Given the description of an element on the screen output the (x, y) to click on. 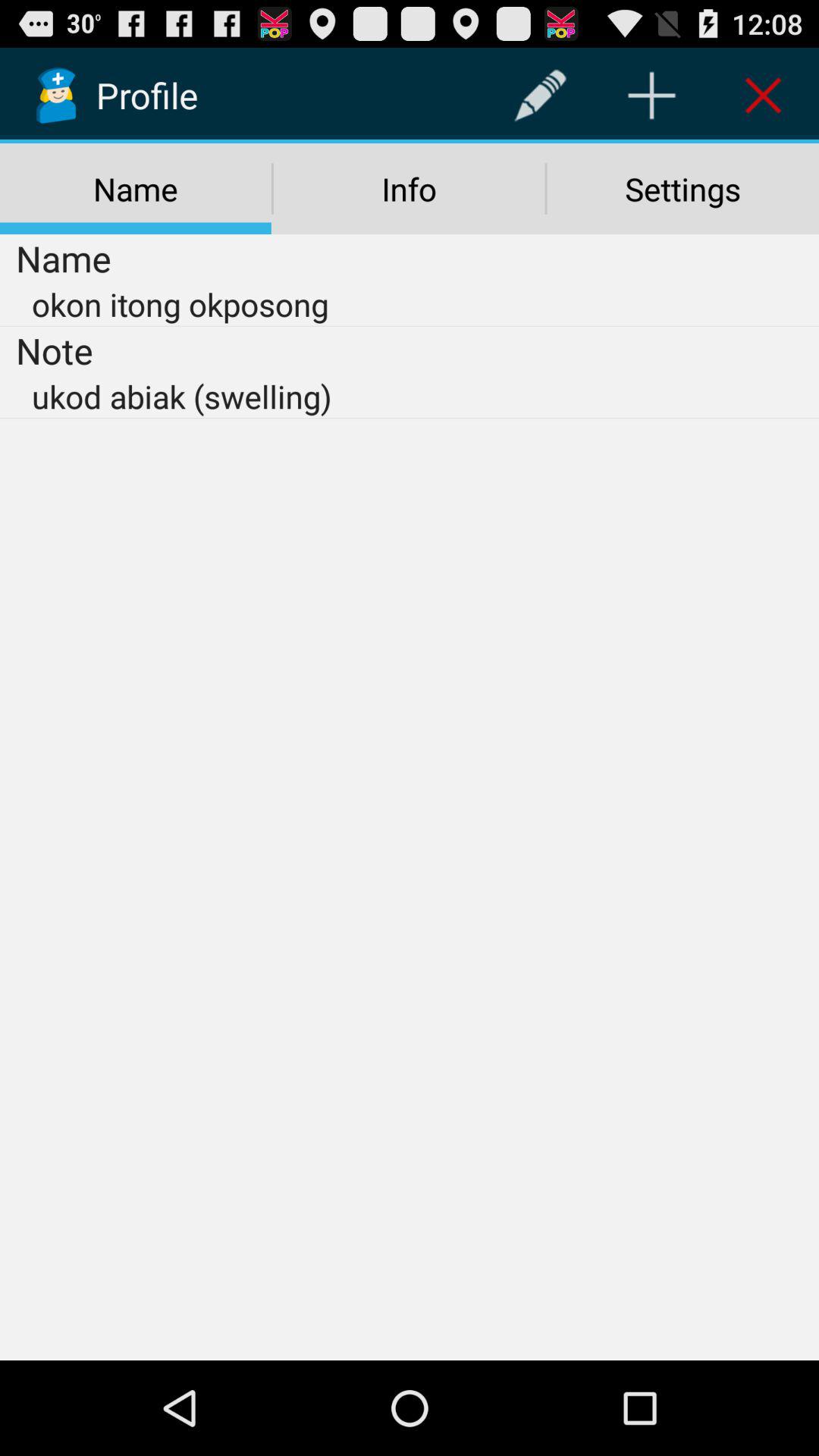
press the icon above the okon itong okposong item (408, 188)
